Given the description of an element on the screen output the (x, y) to click on. 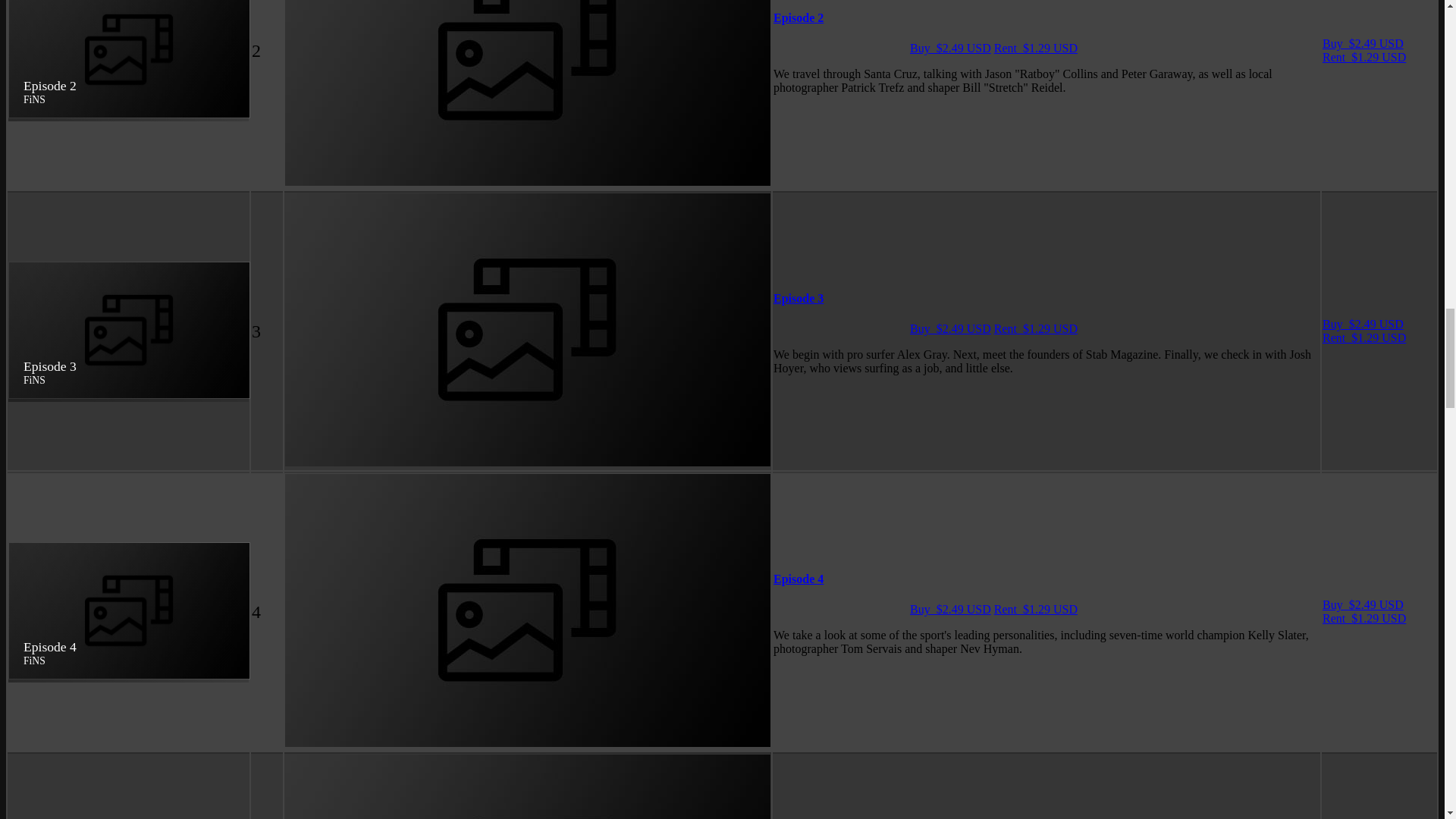
Episode  11 (360, 577)
Episode  7 (358, 169)
Episode  6 (358, 67)
Episode  8 (358, 271)
Episode  10 (361, 475)
Episode  9 (358, 373)
Episode  13 (361, 781)
Episode  12 (361, 679)
